Given the description of an element on the screen output the (x, y) to click on. 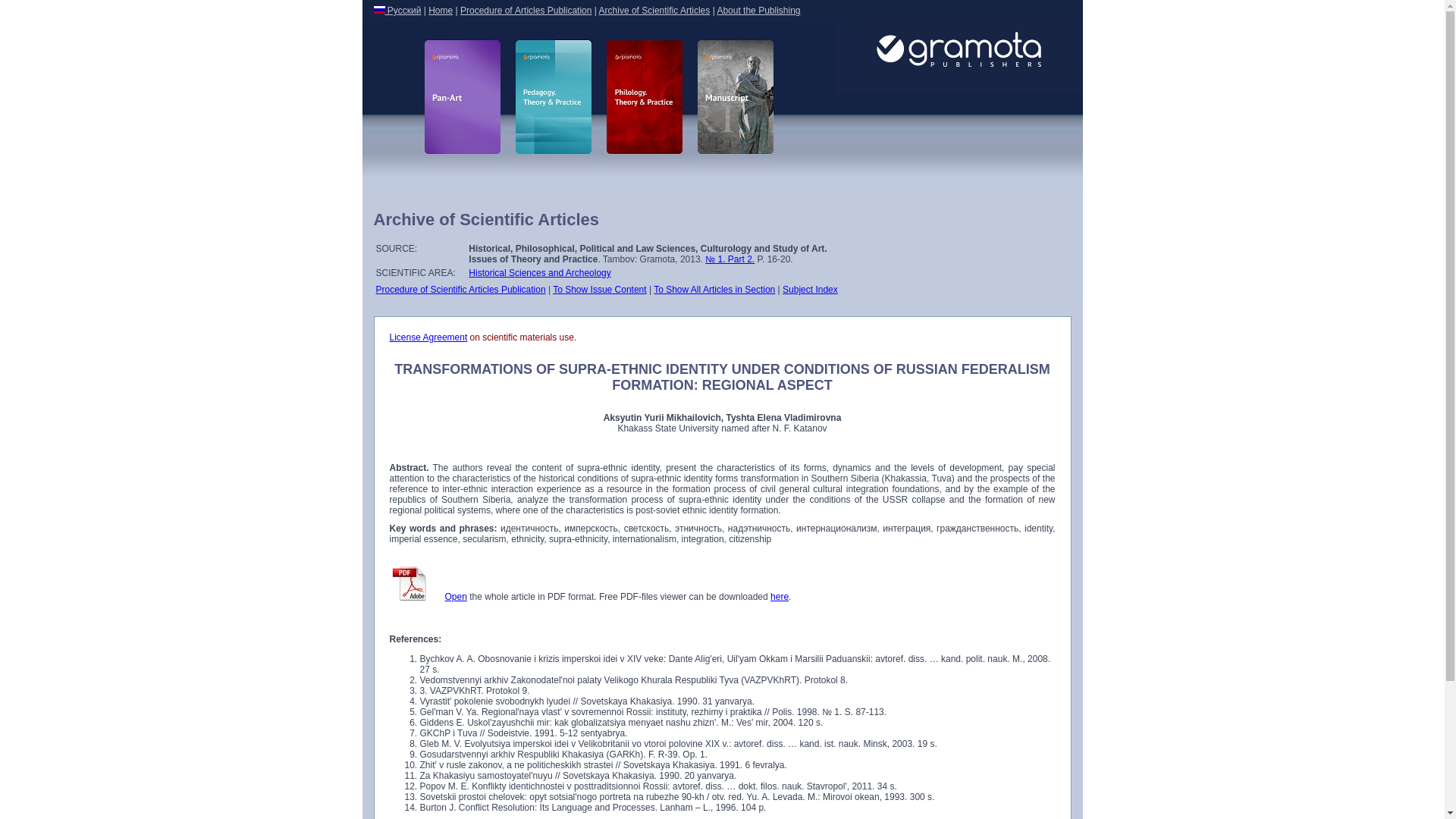
About the Publishing (757, 9)
Home (440, 9)
Historical Sciences and Archeology (539, 272)
License Agreement (428, 337)
Procedure of Scientific Articles Publication (460, 289)
Subject Index (810, 289)
here (779, 596)
To Show All Articles in Section (713, 289)
To Show Issue Content (599, 289)
Archive of Scientific Articles (654, 9)
